Given the description of an element on the screen output the (x, y) to click on. 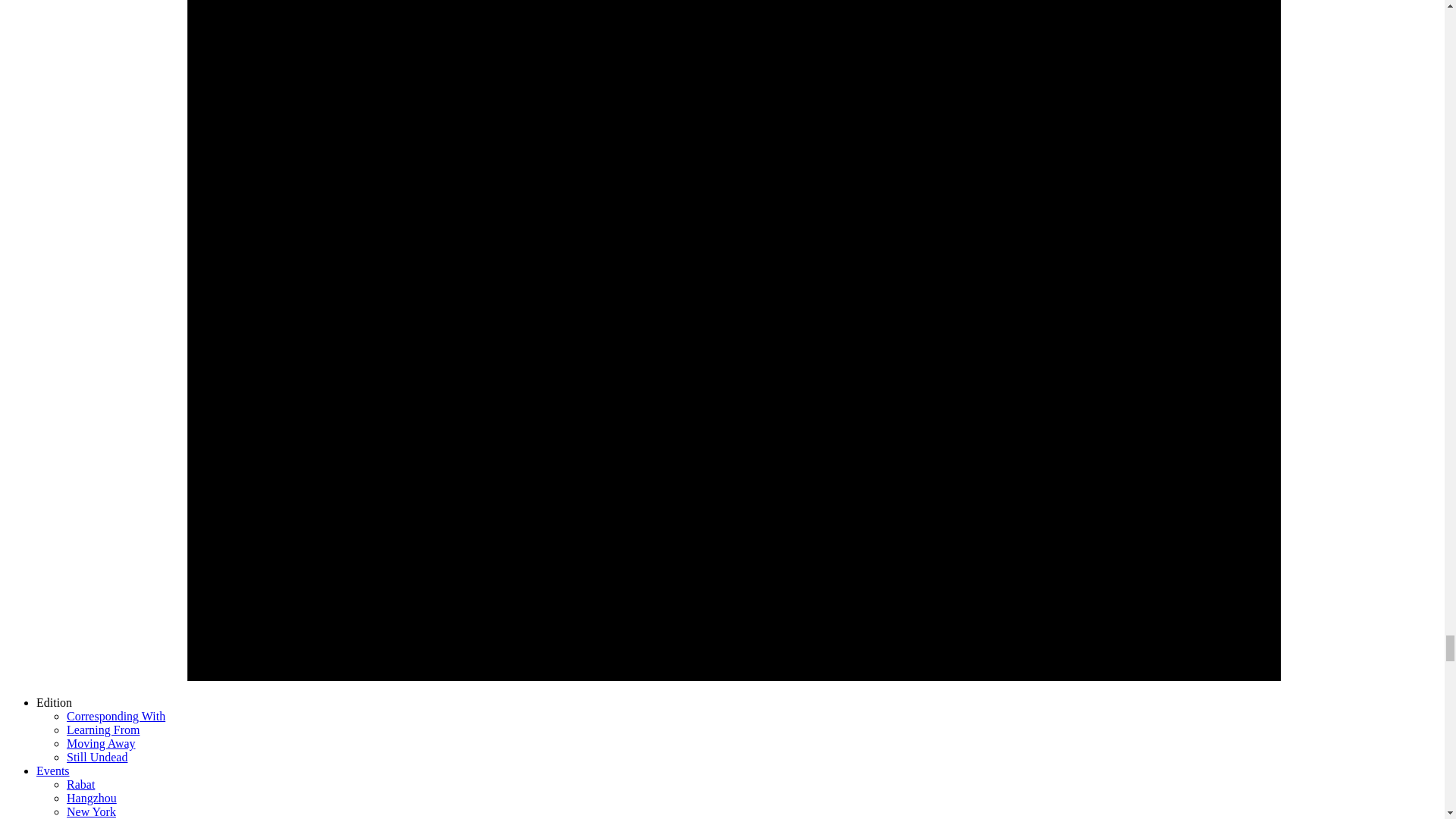
Hangzhou (91, 797)
Still Undead (97, 757)
Rabat (80, 784)
Learning From (102, 729)
New York (91, 811)
Events (52, 770)
Corresponding With (115, 716)
Moving Away (100, 743)
